Given the description of an element on the screen output the (x, y) to click on. 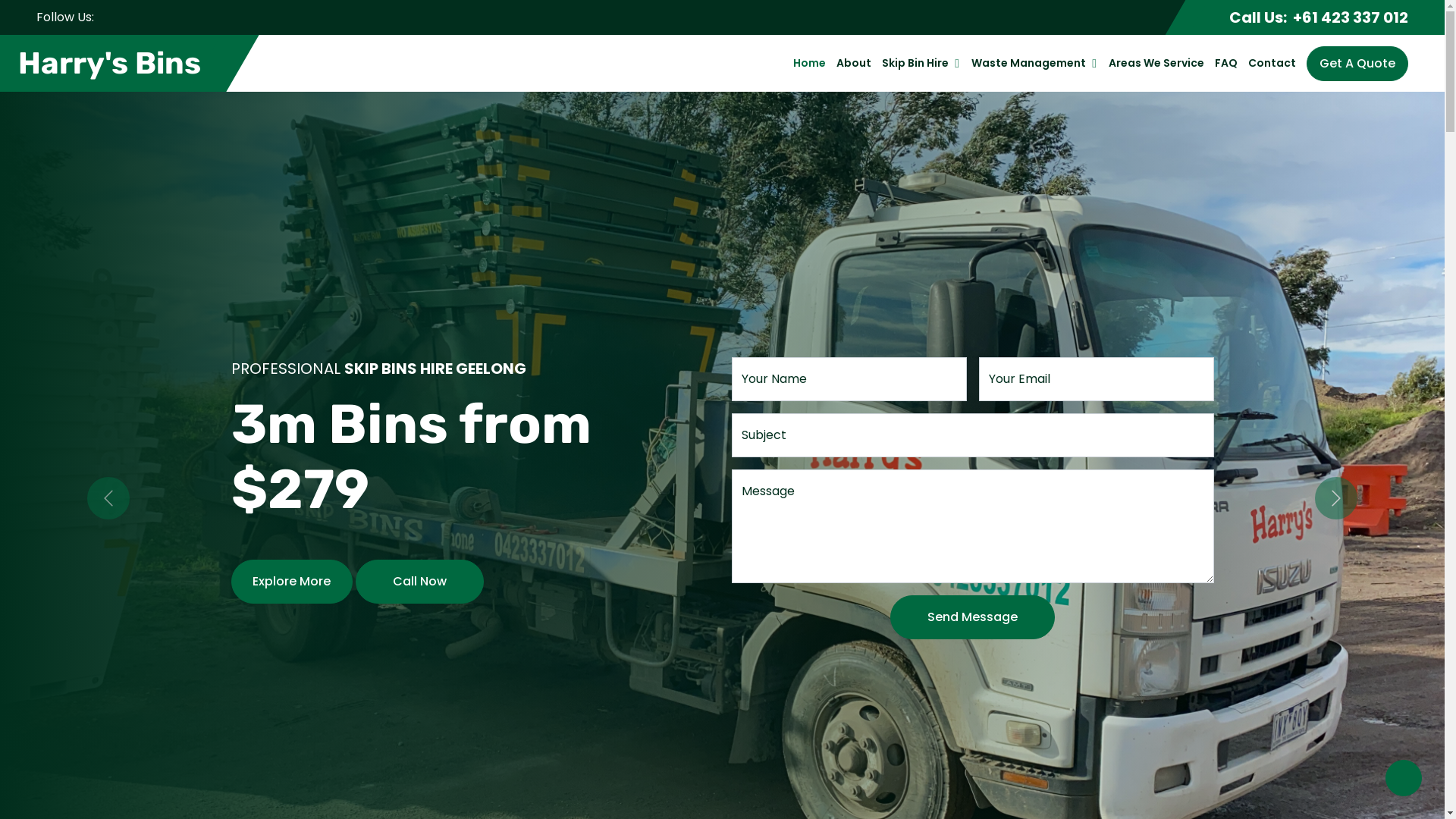
About Element type: text (853, 63)
Waste Management Element type: text (1028, 63)
Explore More Element type: text (290, 581)
Home Element type: text (809, 63)
Send Message Element type: text (972, 617)
Skip Bin Hire Element type: text (914, 63)
Call Now Element type: text (418, 581)
+61 423 337 012 Element type: text (1350, 17)
Contact Element type: text (1271, 63)
FAQ Element type: text (1225, 63)
Harry's Bins Element type: text (111, 62)
Areas We Service Element type: text (1156, 63)
Get A Quote Element type: text (1357, 62)
